Given the description of an element on the screen output the (x, y) to click on. 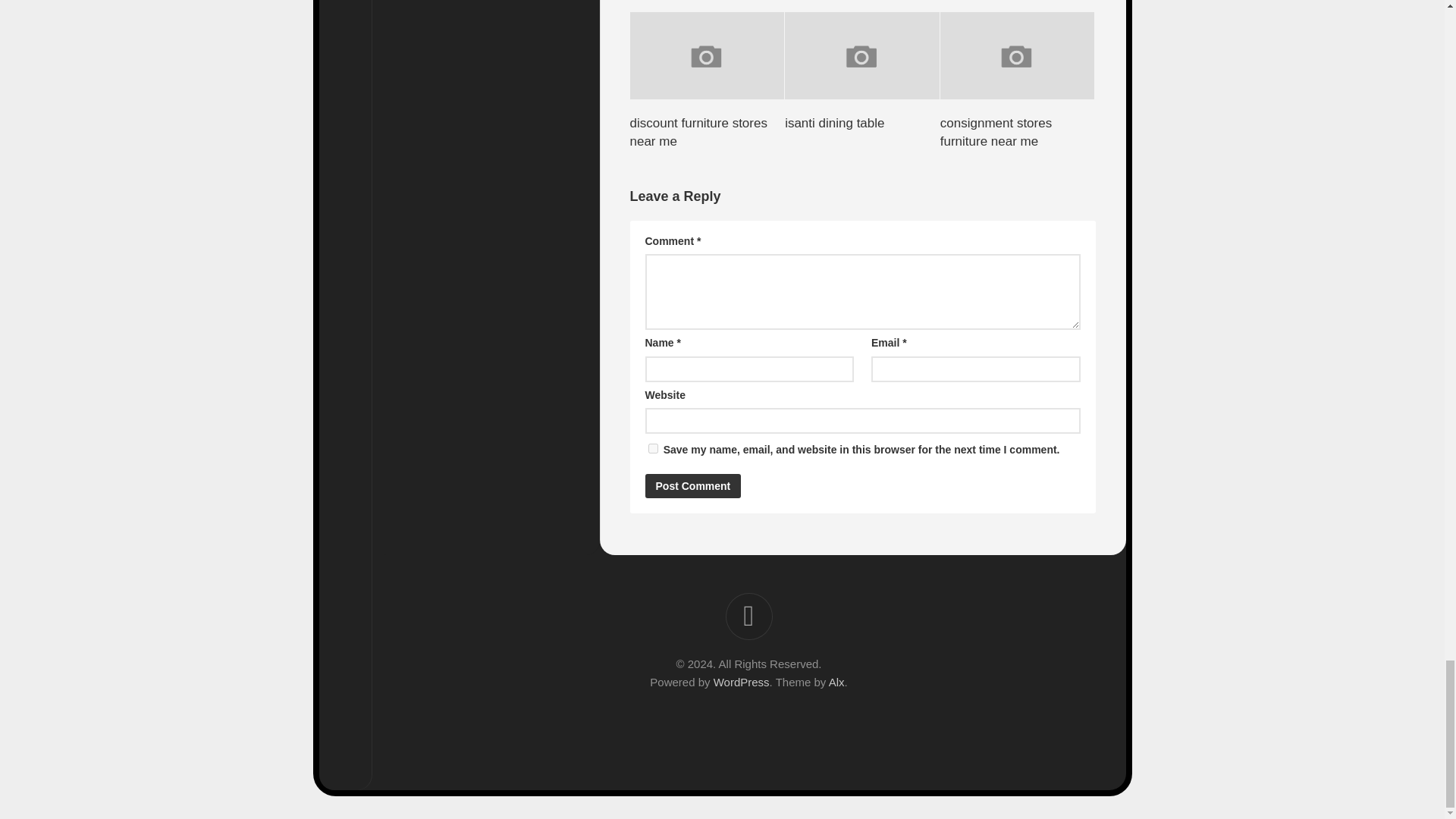
isanti dining table (833, 123)
discount furniture stores near me (697, 132)
yes (652, 448)
Post Comment (693, 485)
